Given the description of an element on the screen output the (x, y) to click on. 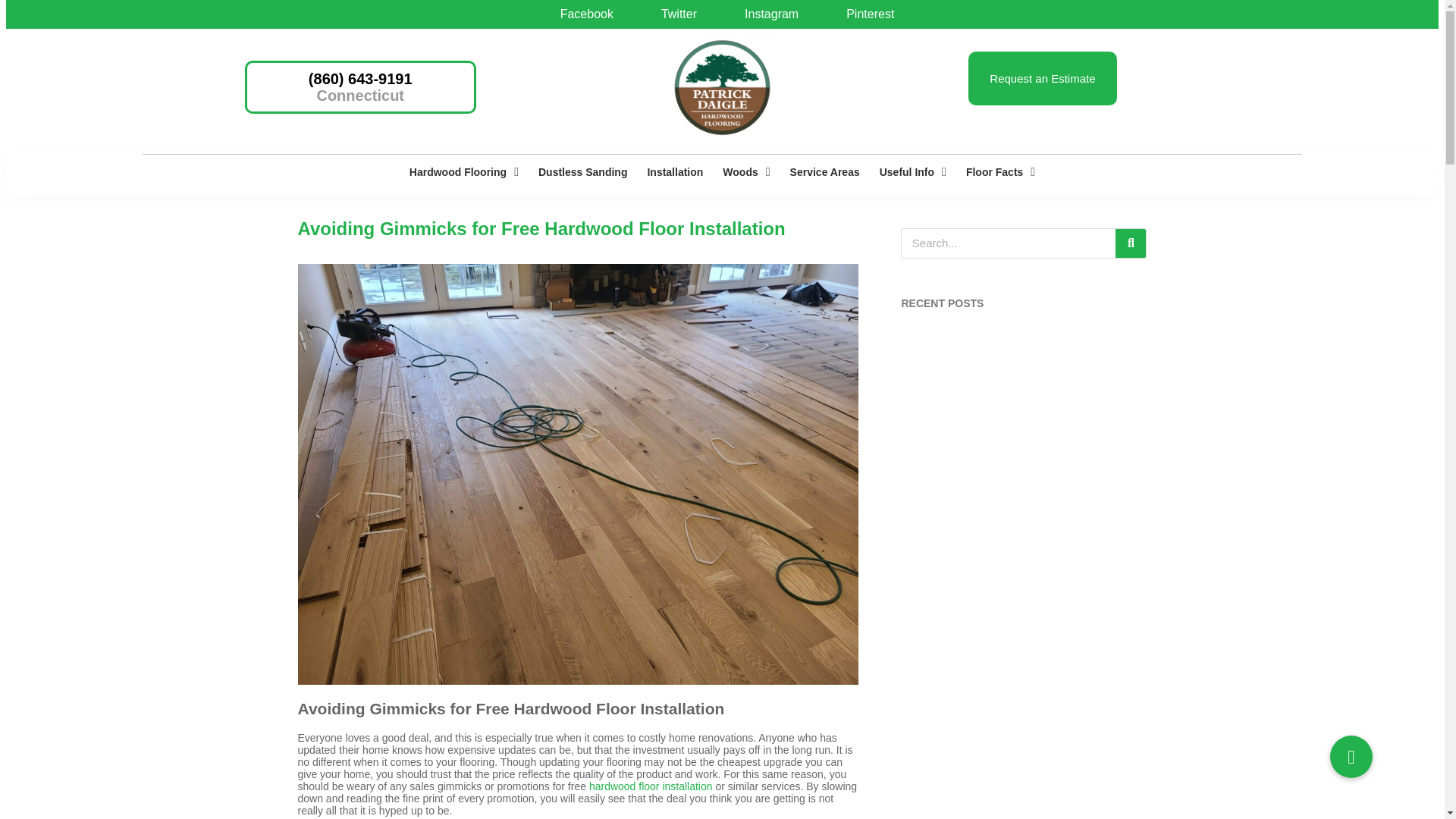
Pinterest (864, 14)
Floor Facts (1000, 171)
Twitter (673, 14)
Useful Info (912, 171)
Search (1130, 243)
Woods (745, 171)
Installation (675, 171)
Request an Estimate (1042, 78)
Facebook (581, 14)
Dustless Sanding (582, 171)
Instagram (766, 14)
Service Areas (824, 171)
Hardwood Flooring (463, 171)
Search (1008, 243)
